Given the description of an element on the screen output the (x, y) to click on. 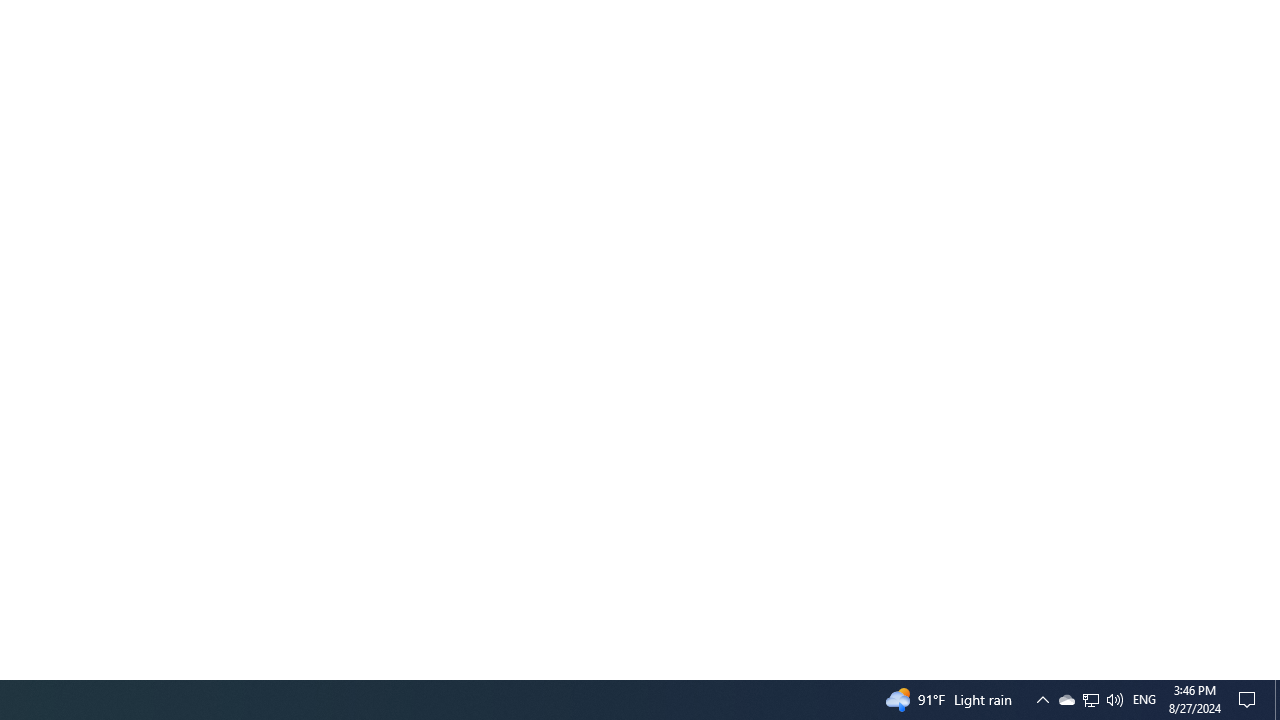
Q2790: 100% (1114, 699)
Action Center, No new notifications (1250, 699)
Tray Input Indicator - English (United States) (1091, 699)
User Promoted Notification Area (1144, 699)
Vertical Small Increase (1090, 699)
Show desktop (1272, 671)
Notification Chevron (1066, 699)
